Given the description of an element on the screen output the (x, y) to click on. 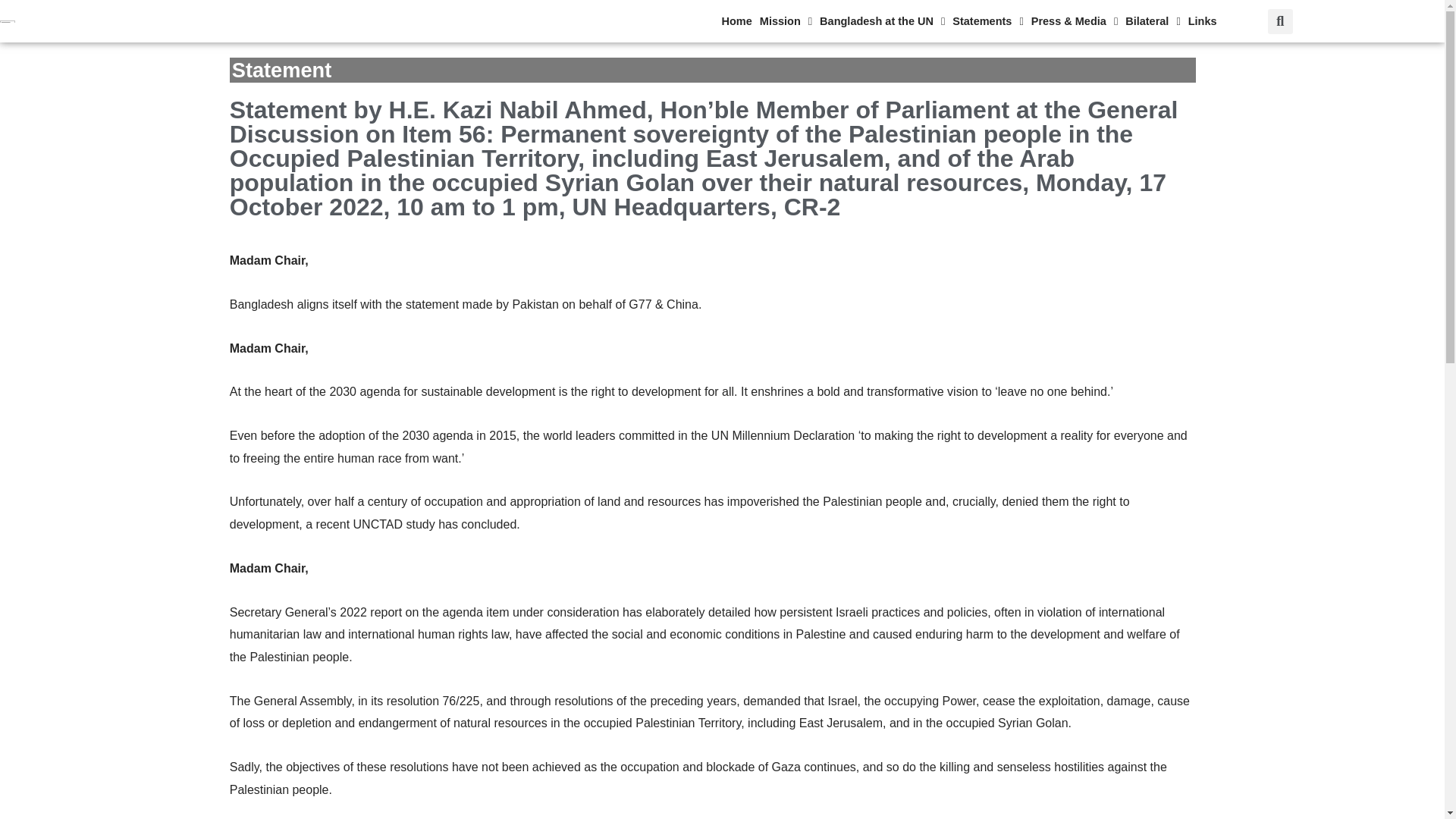
Statements (1016, 21)
Bangladesh at the UN (922, 21)
Mission (837, 21)
Home (794, 21)
Bilateral (1157, 21)
